Given the description of an element on the screen output the (x, y) to click on. 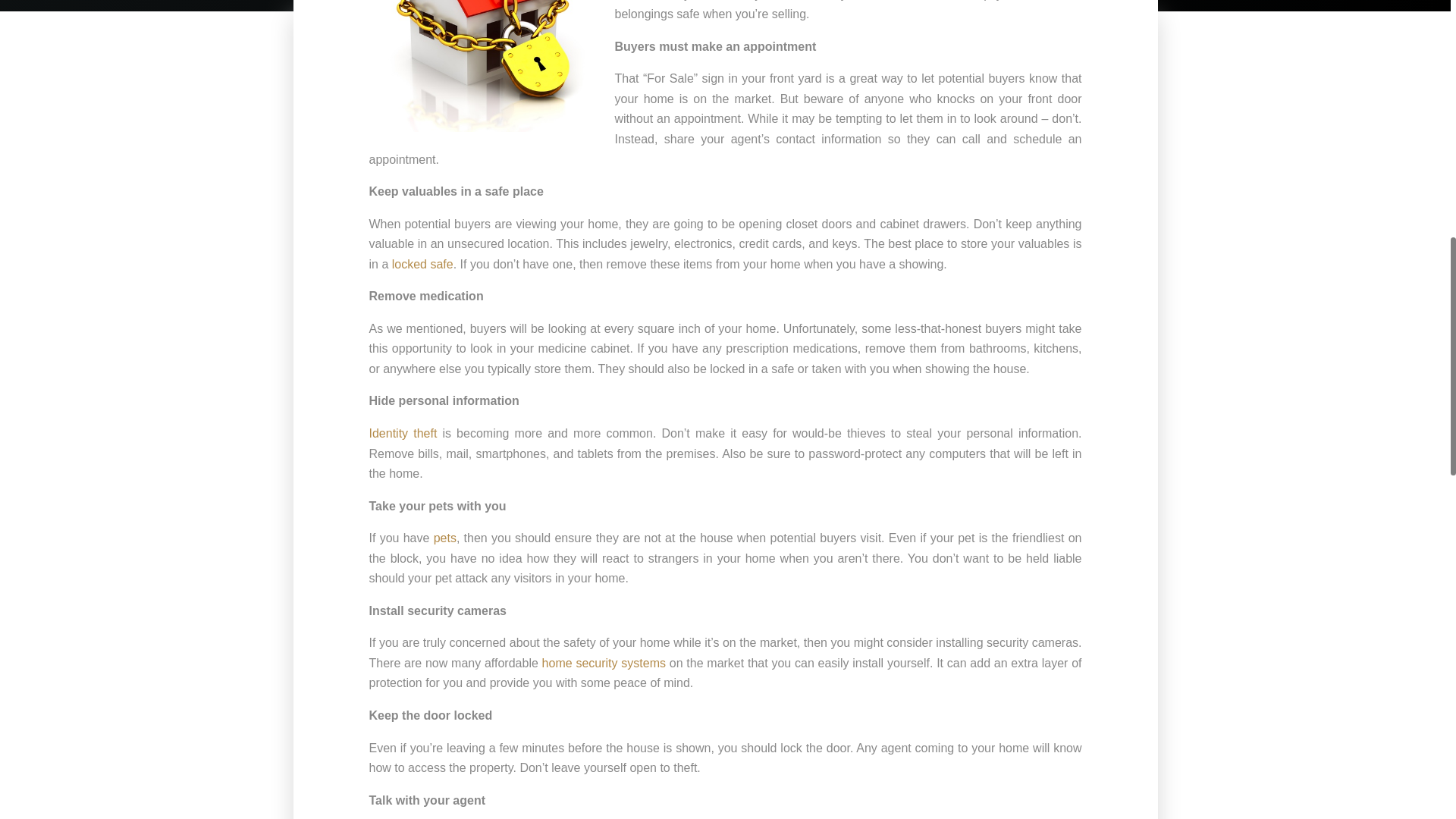
Identity theft (402, 432)
locked safe (421, 264)
pets (445, 537)
home security systems (603, 662)
